Given the description of an element on the screen output the (x, y) to click on. 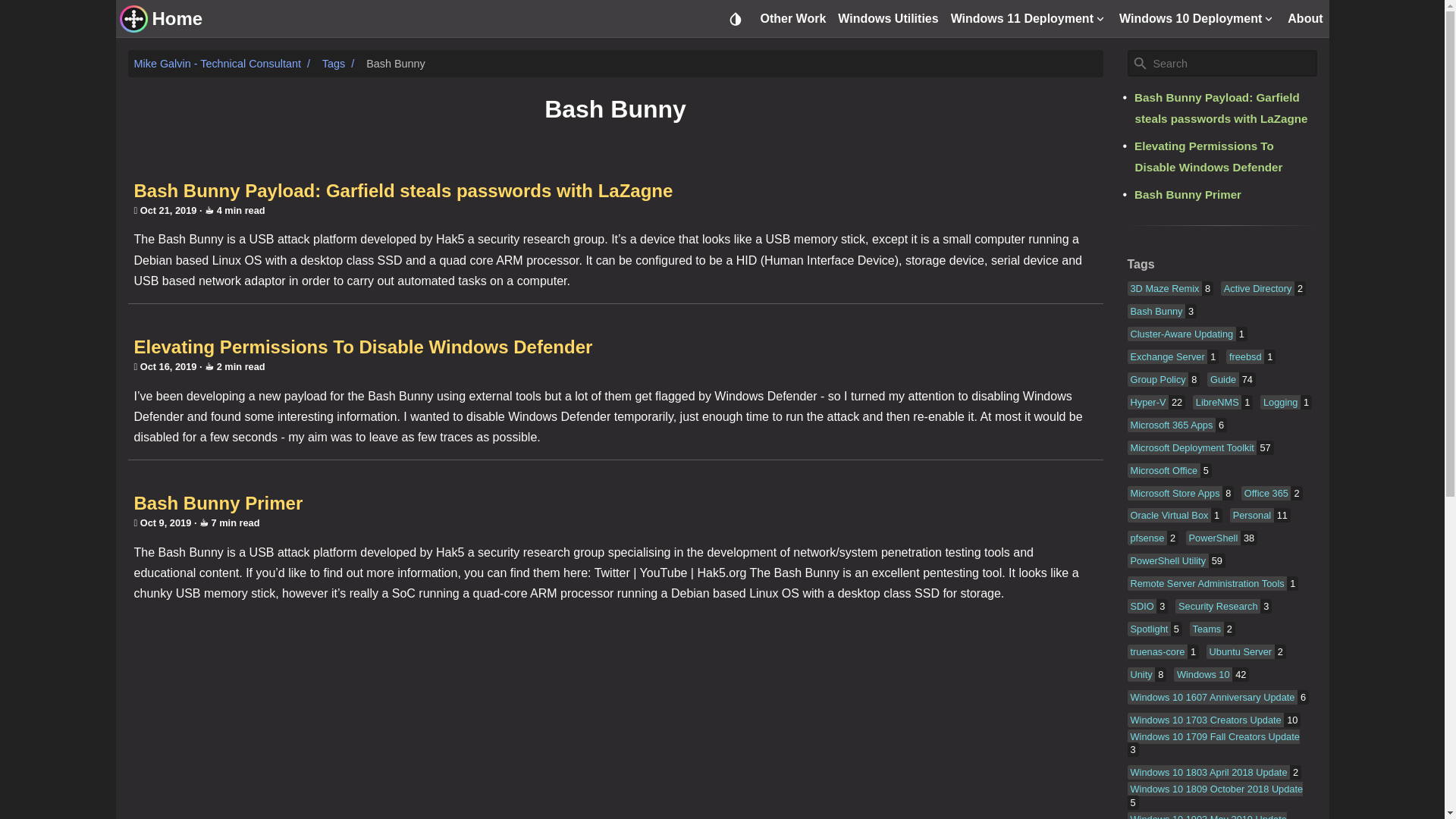
Written At (166, 210)
Windows 11 Deployment (1028, 18)
Written At (163, 522)
Home (176, 18)
Reading Time (226, 522)
Reading Time (231, 210)
Reading Time (231, 366)
Home (176, 18)
Written At (166, 366)
Other Work (792, 18)
Windows Utilities (887, 18)
Home (132, 19)
